Given the description of an element on the screen output the (x, y) to click on. 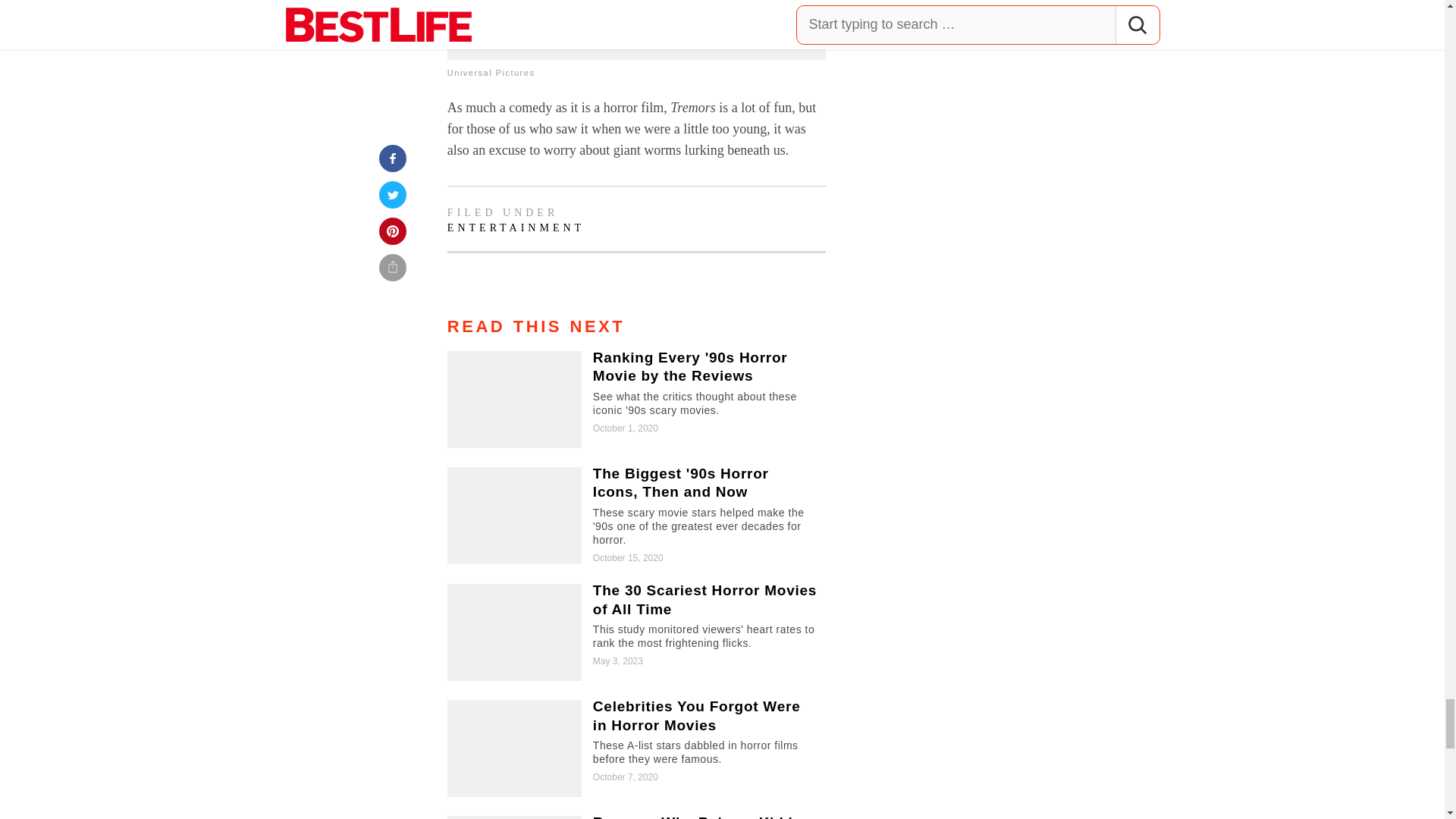
The 30 Scariest Horror Movies of All Time (635, 631)
The Biggest '90s Horror Icons, Then and Now (635, 515)
Celebrities You Forgot Were in Horror Movies (635, 748)
Ranking Every '90s Horror Movie by the Reviews (635, 399)
